Given the description of an element on the screen output the (x, y) to click on. 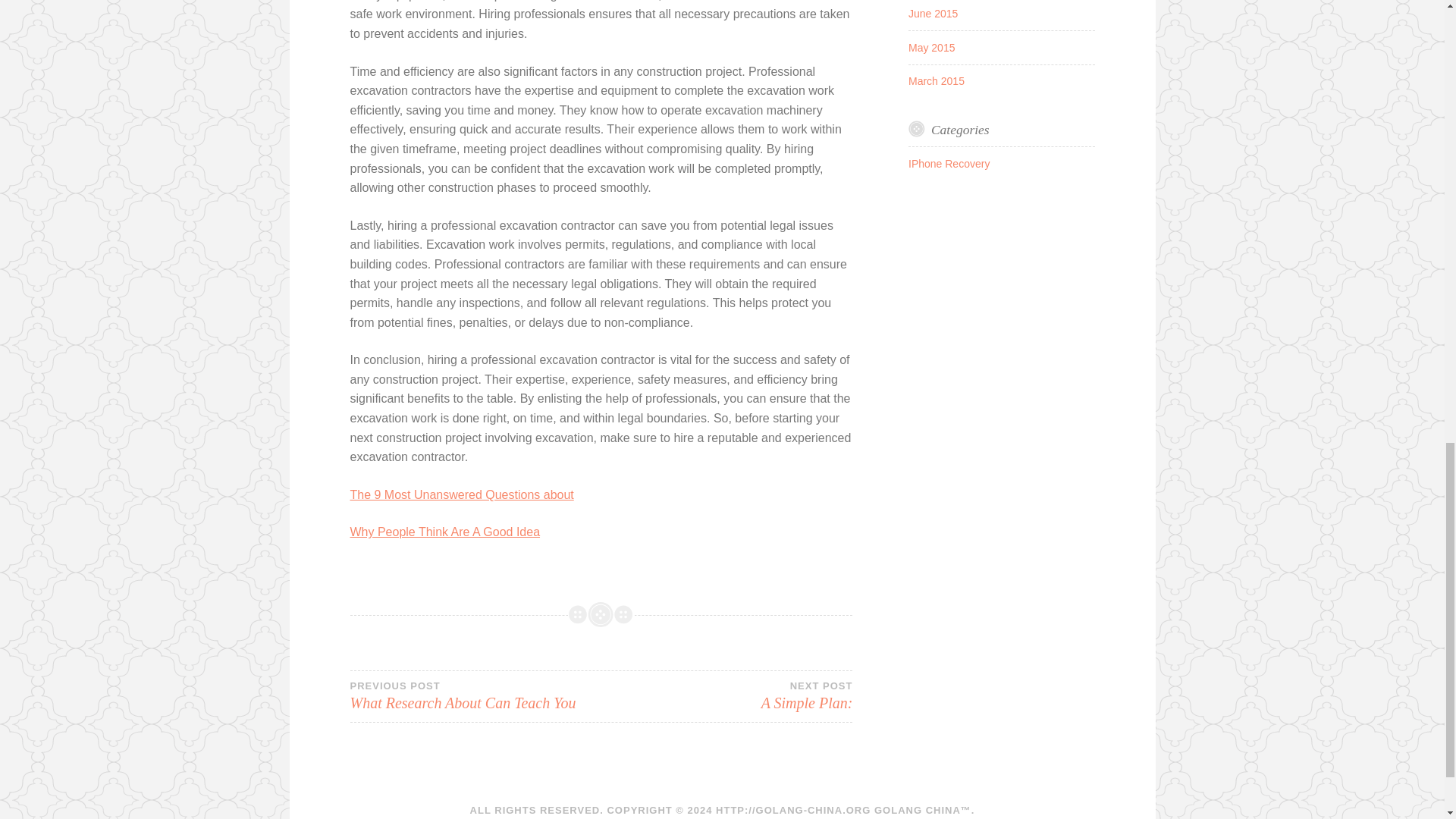
Why People Think Are A Good Idea (445, 531)
March 2015 (726, 695)
The 9 Most Unanswered Questions about (935, 80)
May 2015 (461, 494)
June 2015 (931, 47)
IPhone Recovery (475, 695)
